Given the description of an element on the screen output the (x, y) to click on. 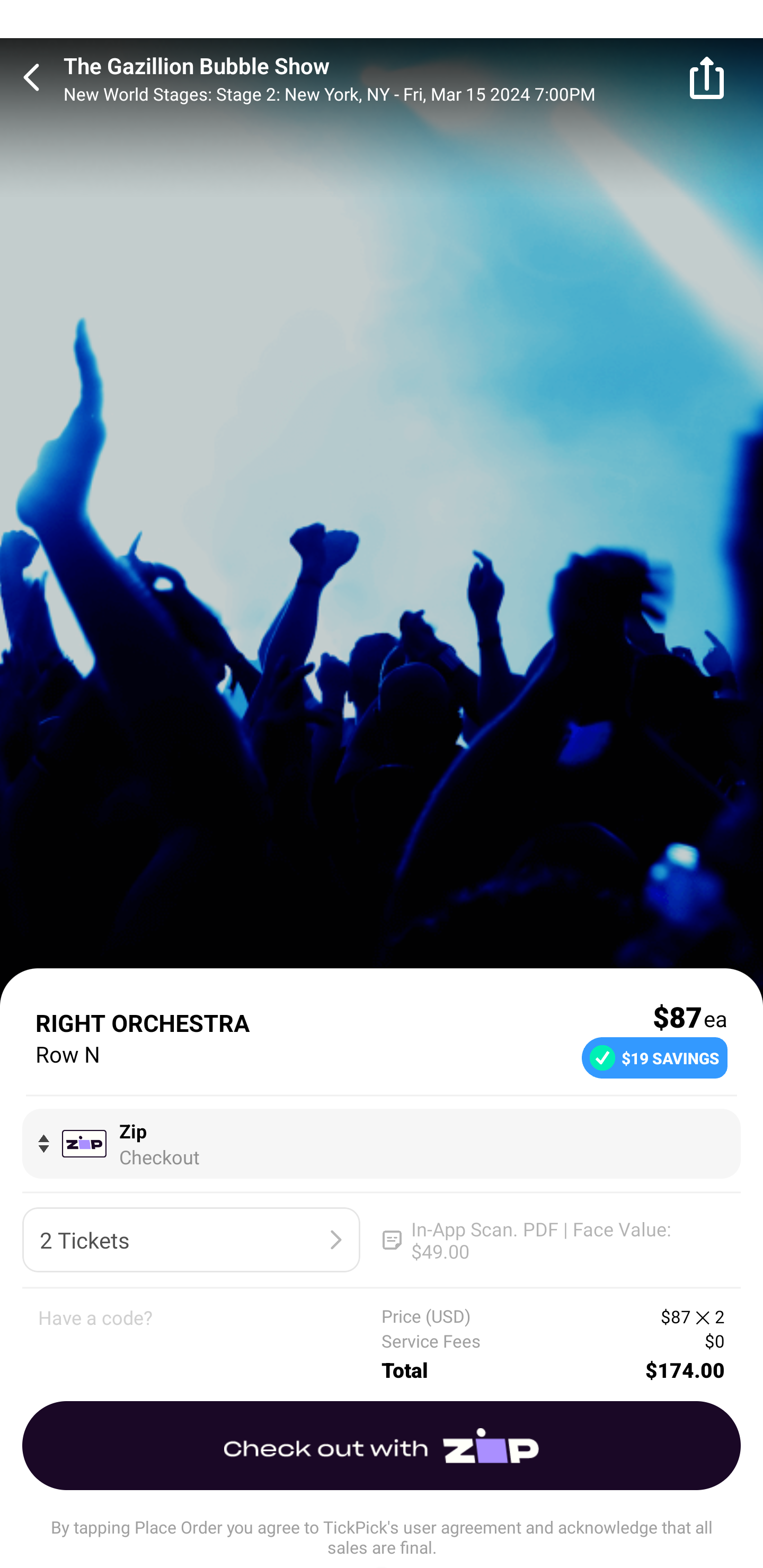
$19 SAVINGS (654, 1057)
Zip, Checkout Zip Checkout (381, 1143)
2 Tickets (191, 1239)
In-App Scan. PDF | Face Value: $49.00 (552, 1239)
Have a code? (209, 1344)
